Given the description of an element on the screen output the (x, y) to click on. 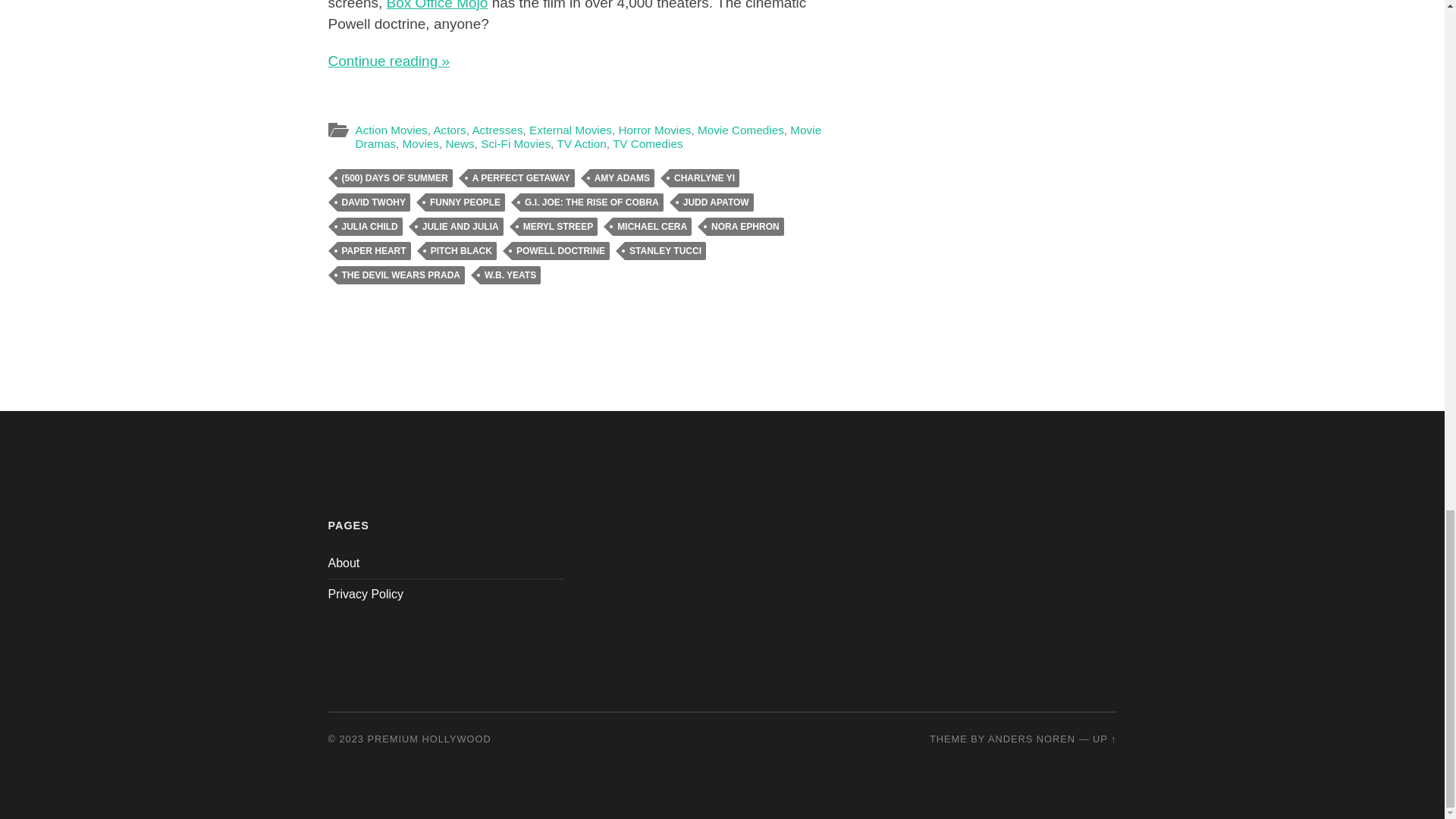
Action Movies (390, 129)
Movie Dramas (588, 136)
Sci-Fi Movies (515, 143)
To the top (1104, 738)
Movies (421, 143)
External Movies (570, 129)
Horror Movies (653, 129)
News (459, 143)
Actresses (496, 129)
Box Office Mojo (437, 5)
